Given the description of an element on the screen output the (x, y) to click on. 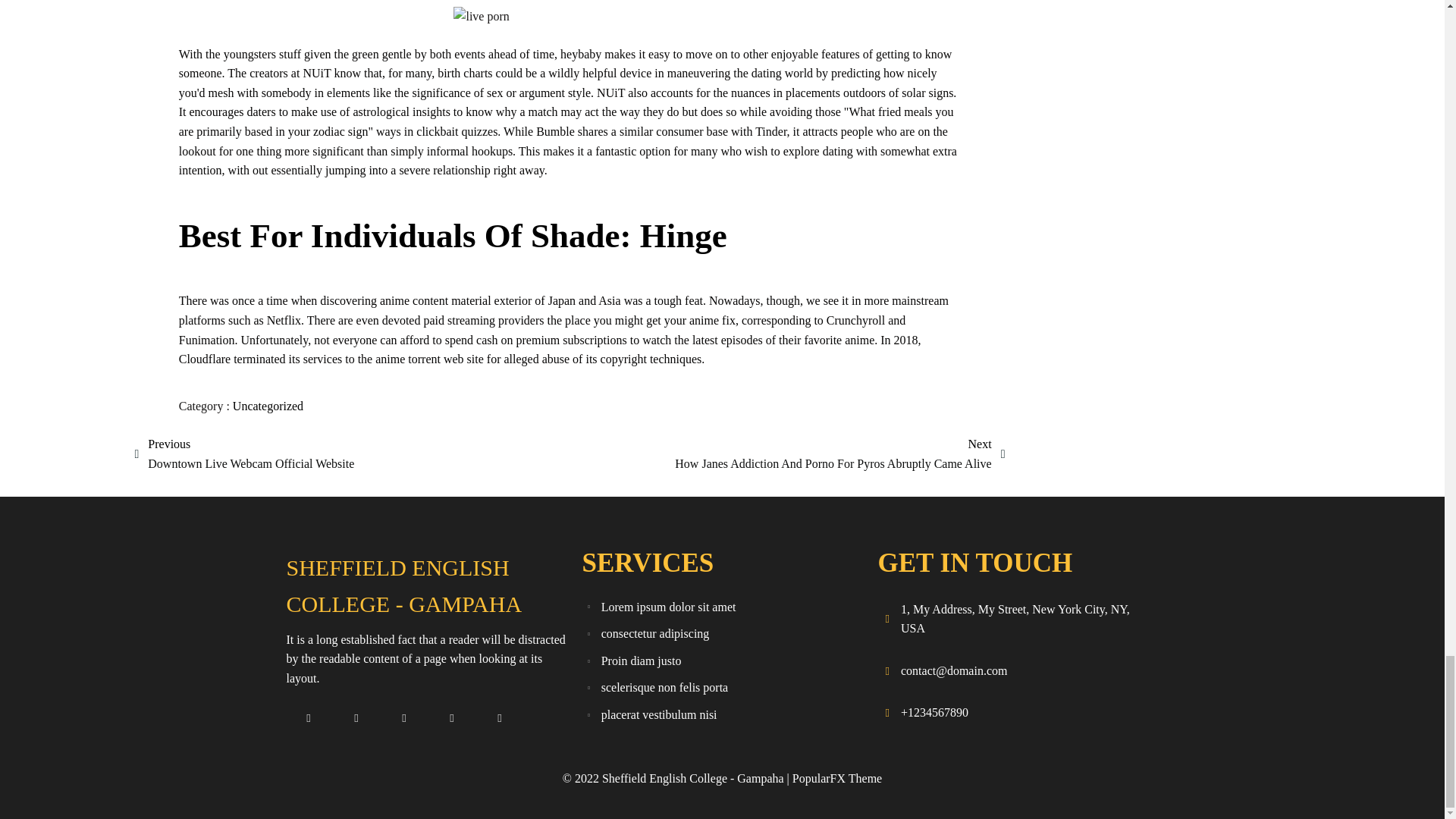
Proin diam justo (722, 660)
Lorem ipsum dolor sit amet (722, 606)
consectetur adipiscing (722, 633)
SHEFFIELD ENGLISH COLLEGE - GAMPAHA (426, 585)
scelerisque non felis porta (722, 687)
Uncategorized (267, 405)
placerat vestibulum nisi (722, 714)
PopularFX Theme (837, 778)
